Given the description of an element on the screen output the (x, y) to click on. 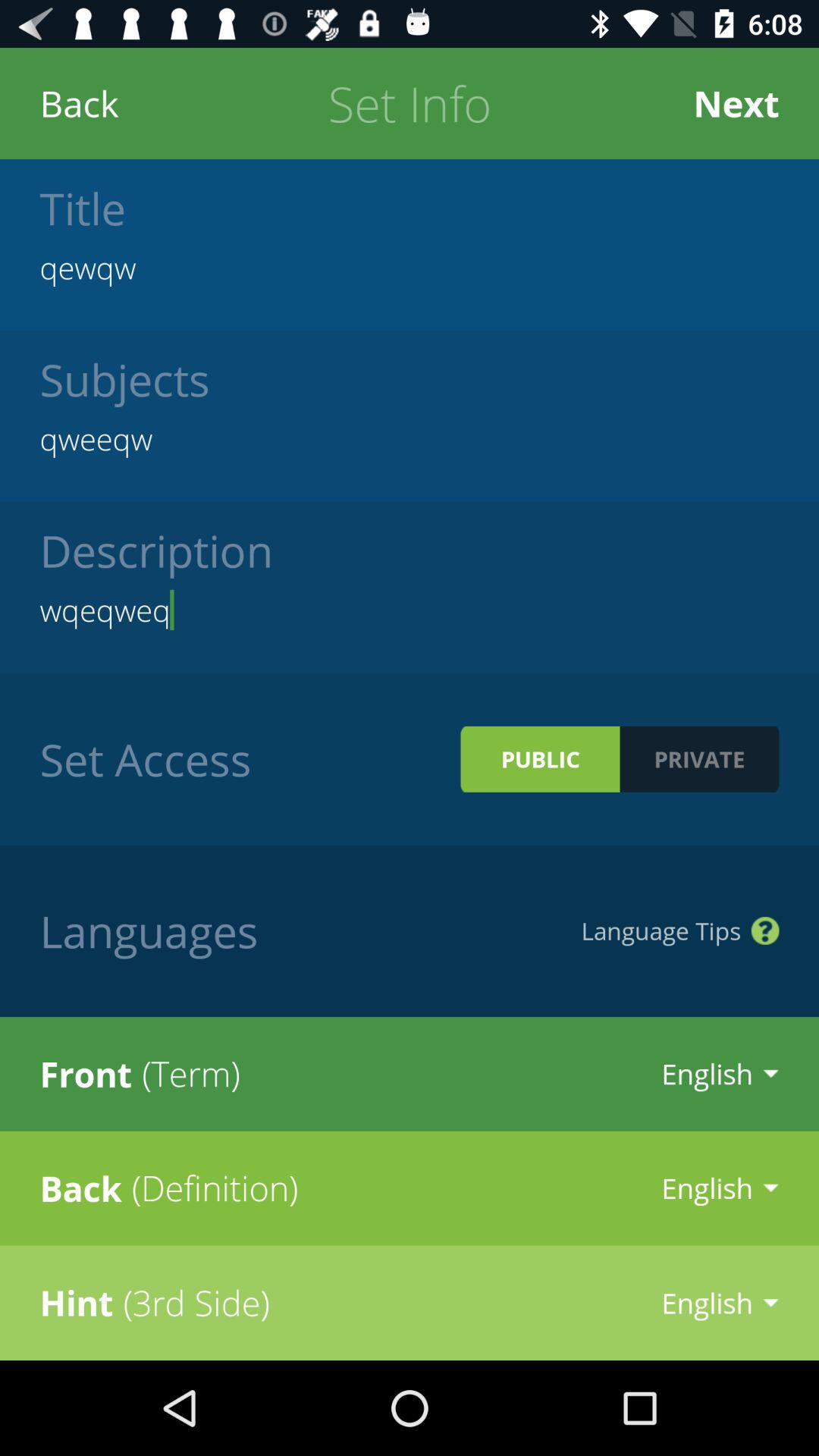
turn off the item next to set info icon (736, 103)
